Given the description of an element on the screen output the (x, y) to click on. 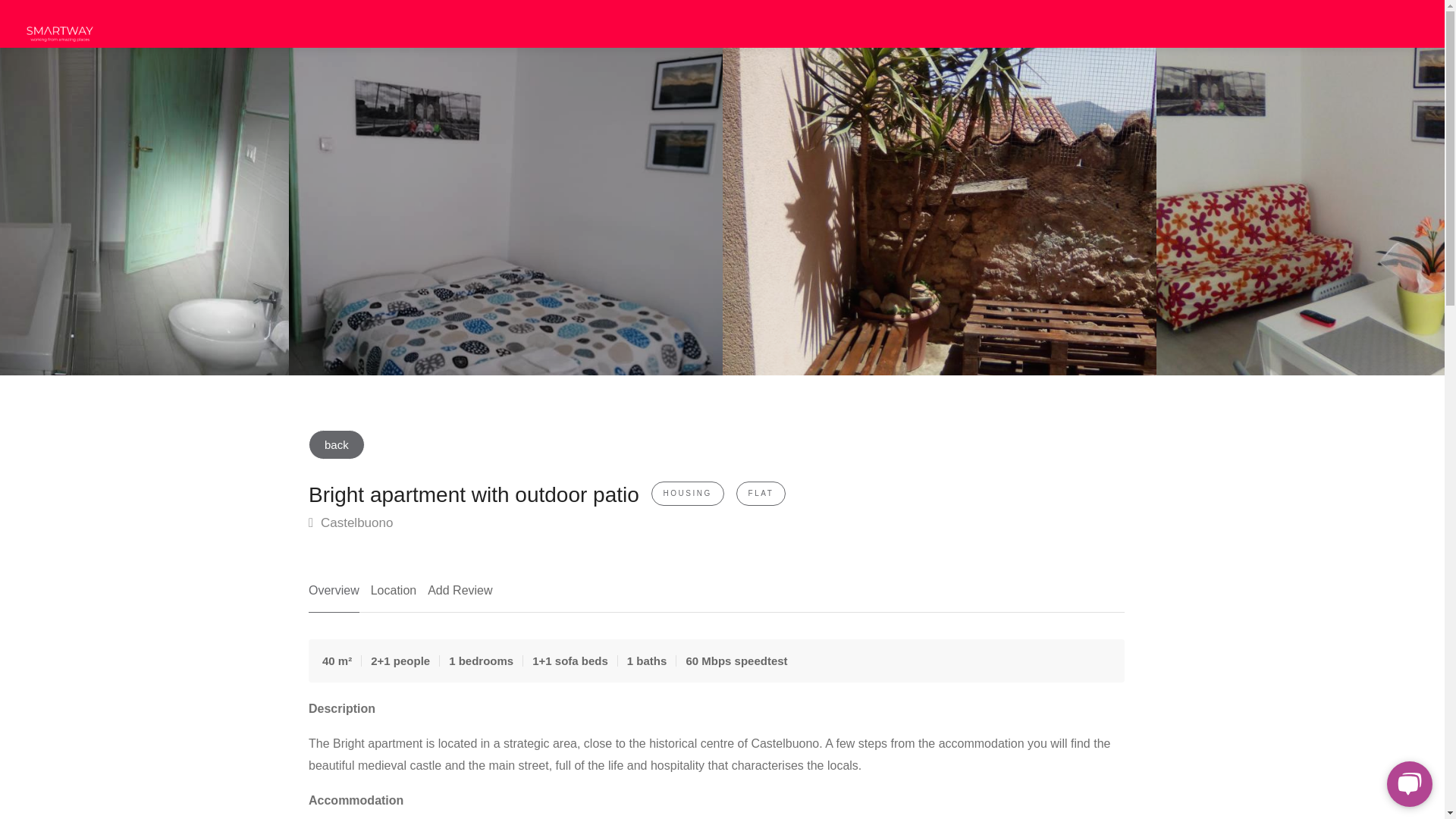
Castelbuono (350, 522)
Overview (333, 595)
HOUSING (687, 492)
Location (393, 595)
FLAT (761, 492)
Add Review (460, 595)
Smartway Solutions (59, 27)
back (336, 444)
